Given the description of an element on the screen output the (x, y) to click on. 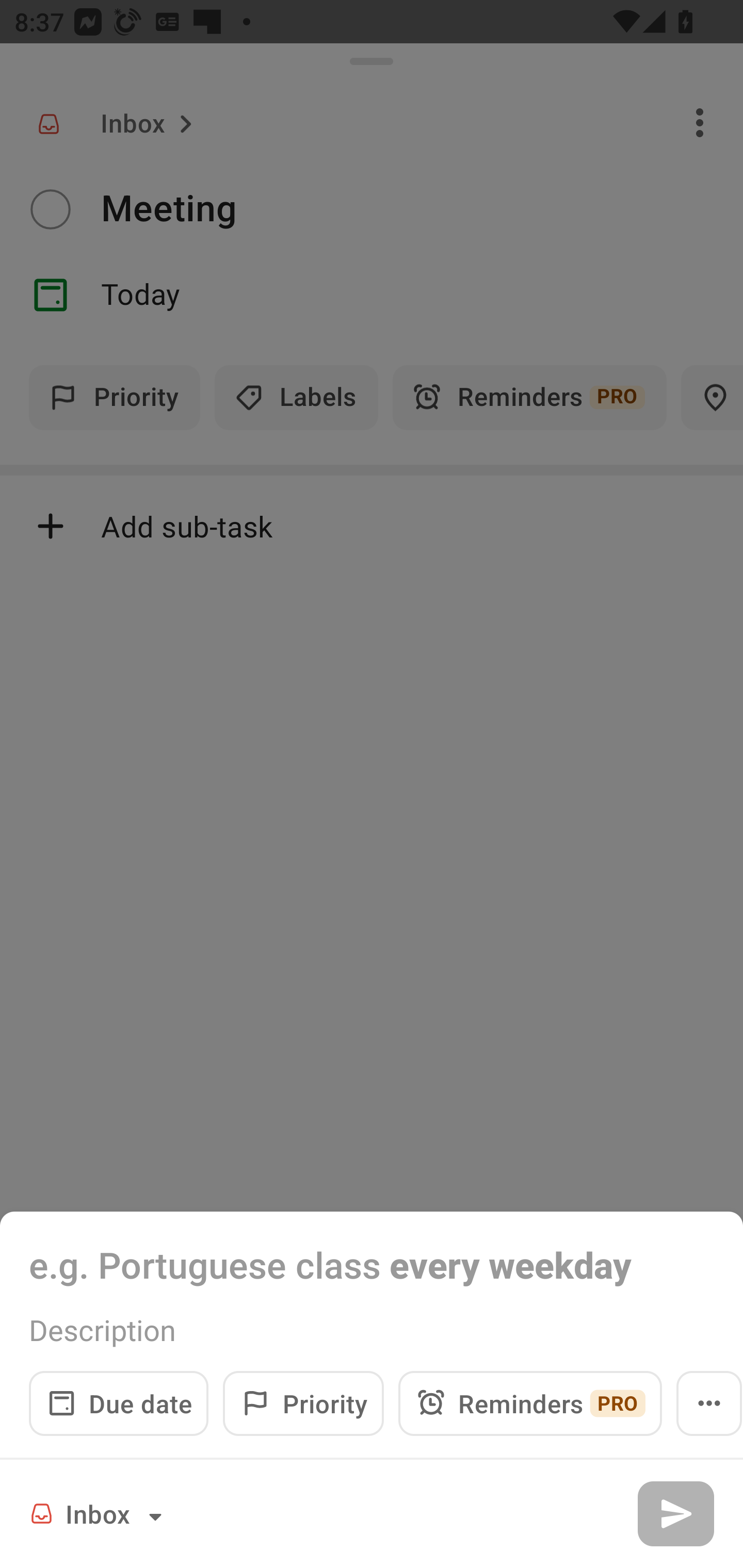
e.g. Portuguese class every weekday (371, 1264)
Description (371, 1330)
Due date Date (118, 1403)
Priority (303, 1403)
Reminders PRO Reminders (530, 1403)
Open menu (709, 1403)
Inbox Project (99, 1513)
Add (675, 1513)
